Given the description of an element on the screen output the (x, y) to click on. 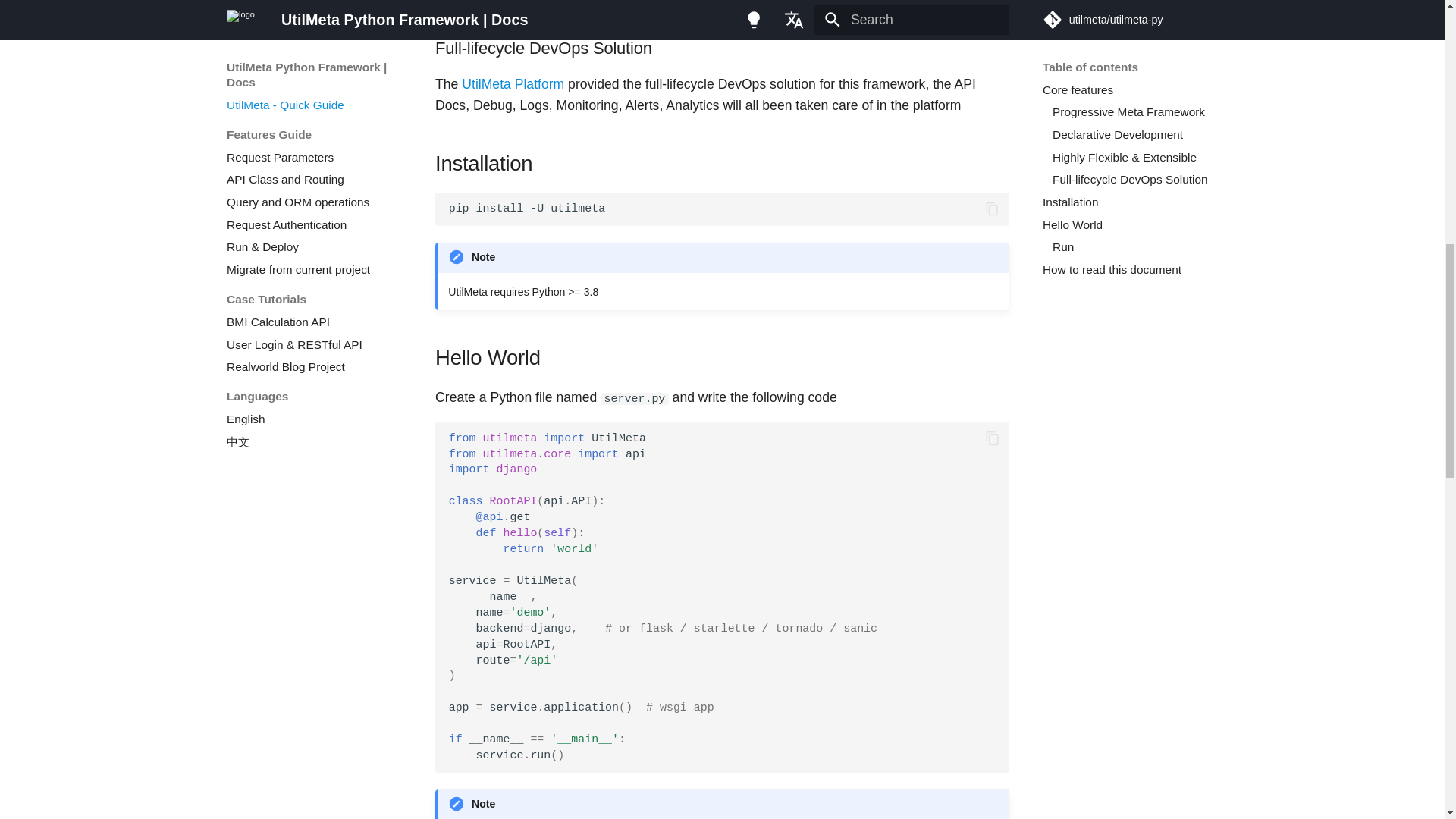
Copy to clipboard (992, 208)
Copy to clipboard (992, 437)
